Given the description of an element on the screen output the (x, y) to click on. 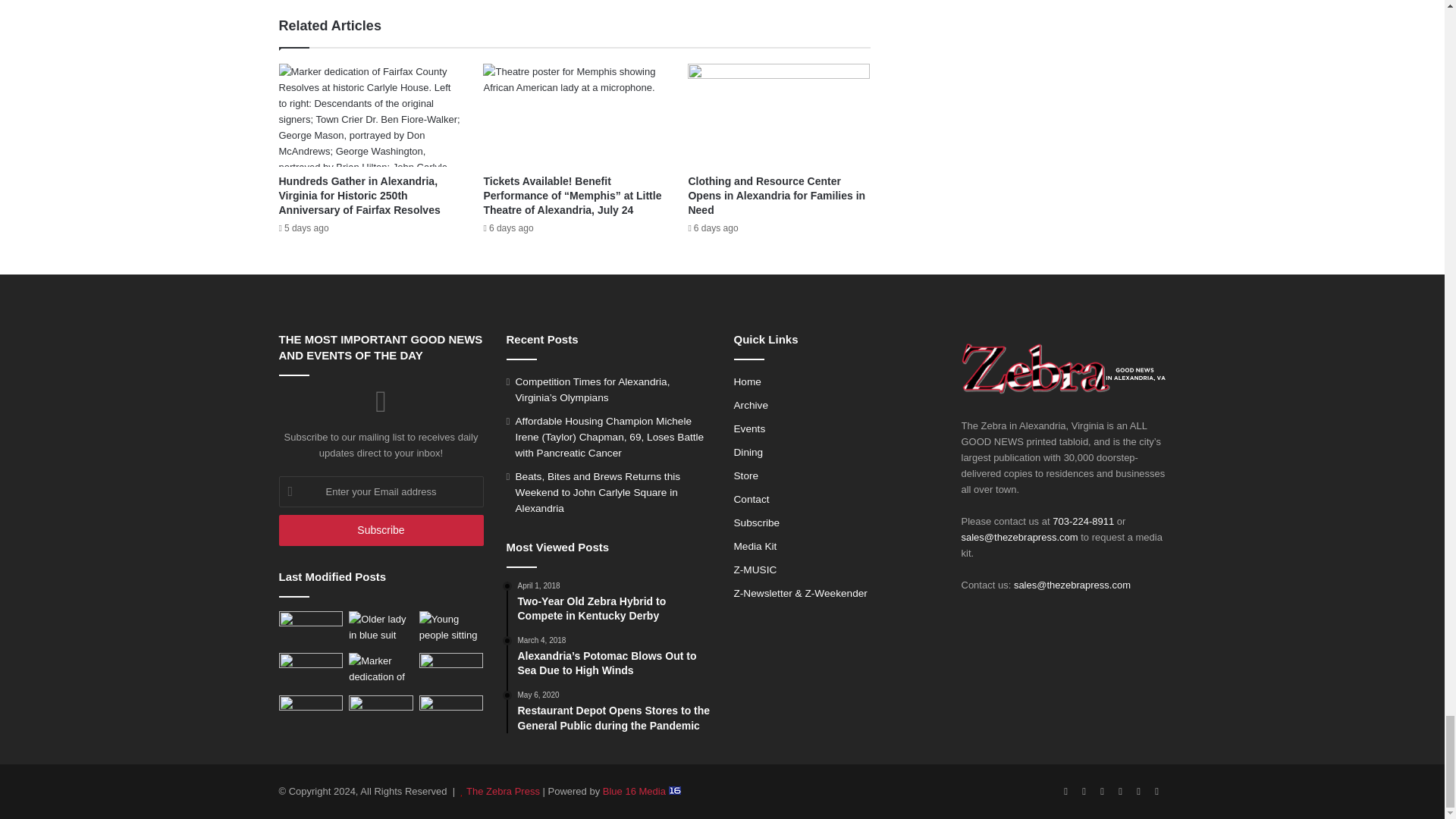
Subscribe (381, 530)
